Given the description of an element on the screen output the (x, y) to click on. 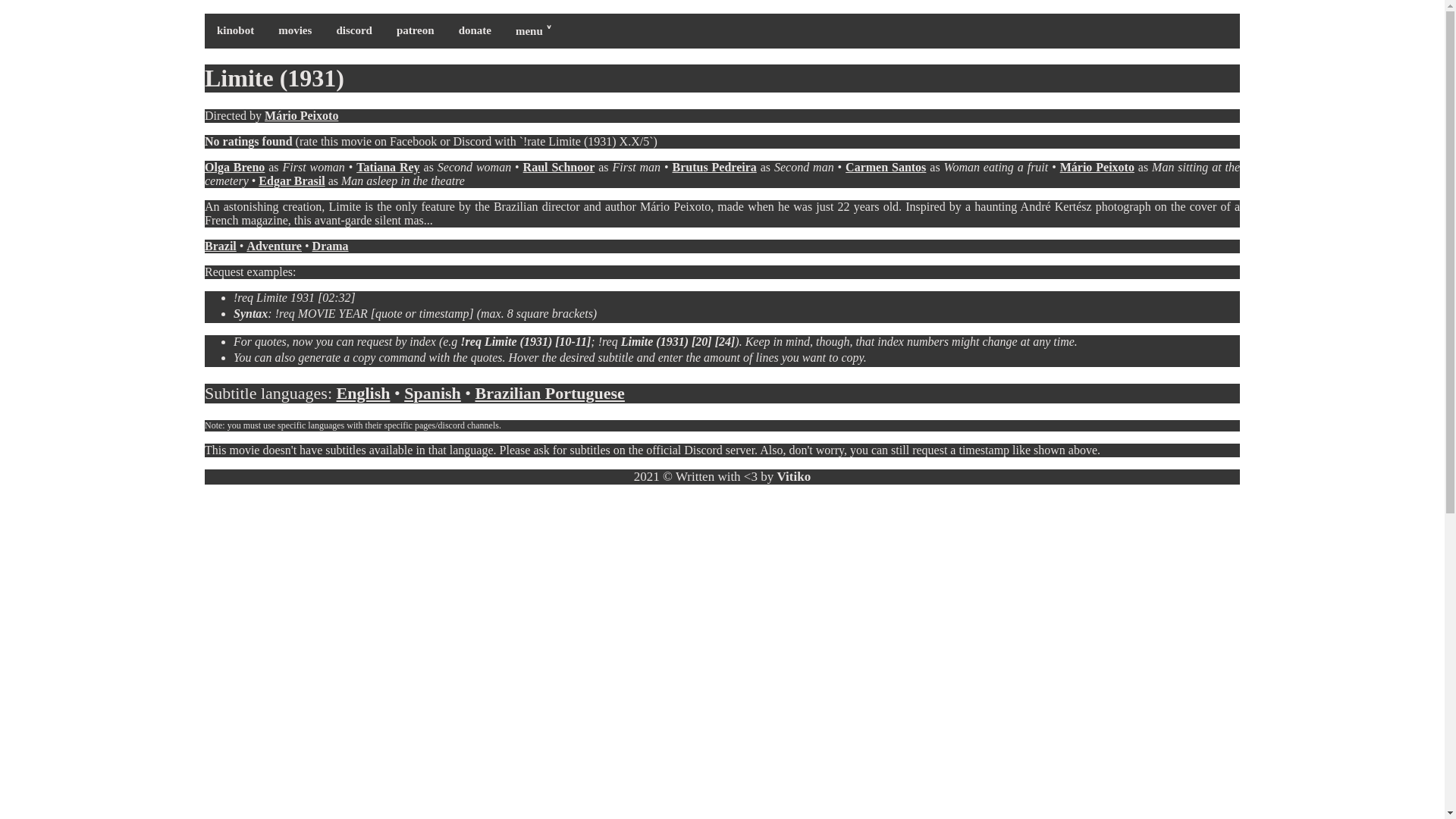
Carmen Santos (885, 166)
English (363, 393)
discord (353, 30)
Brutus Pedreira (714, 166)
Brazil (220, 245)
movies (294, 30)
Brazilian Portuguese (549, 393)
Drama (331, 245)
Adventure (273, 245)
Olga Breno (234, 166)
Tatiana Rey (387, 166)
kinobot (235, 30)
Spanish (432, 393)
Raul Schnoor (558, 166)
patreon (415, 30)
